Given the description of an element on the screen output the (x, y) to click on. 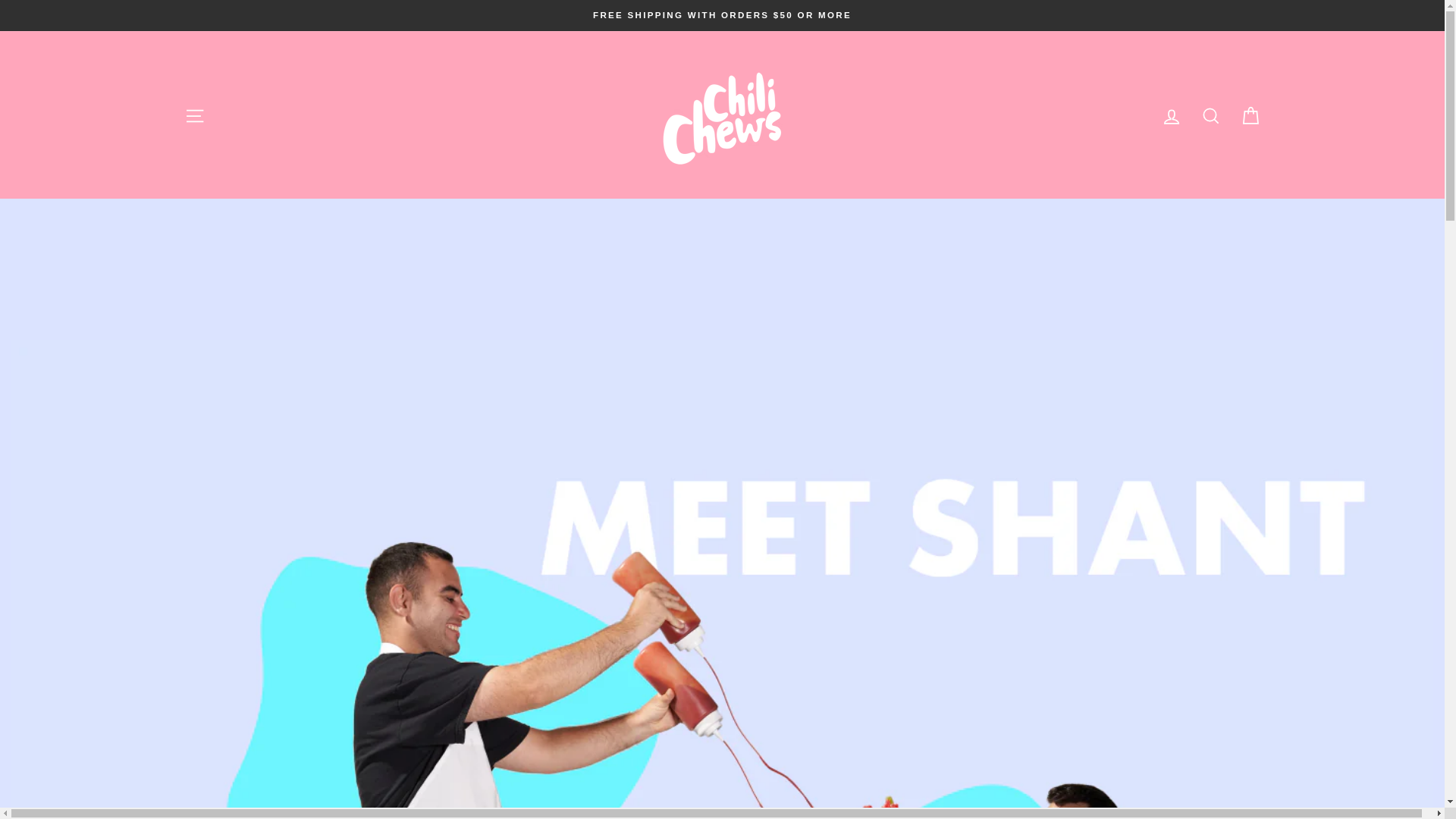
SEARCH (1210, 114)
SITE NAVIGATION (194, 114)
ACCOUNT (1171, 114)
CART (1249, 114)
